Given the description of an element on the screen output the (x, y) to click on. 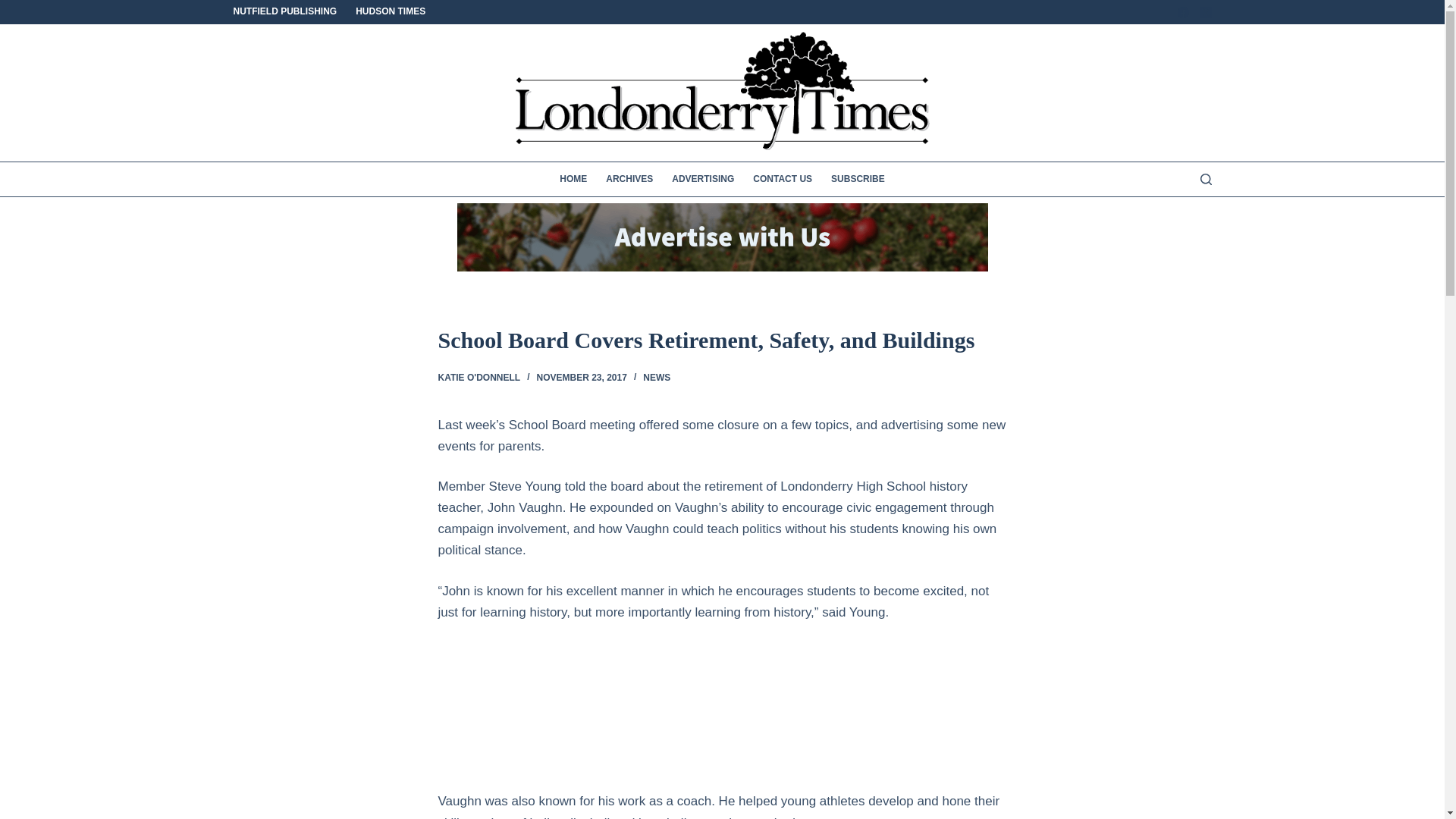
HOME (573, 179)
NEWS (656, 377)
Advertisement (284, 713)
SUBSCRIBE (858, 179)
Posts by Katie O'Donnell (479, 377)
ARCHIVES (629, 179)
ADVERTISING (703, 179)
HUDSON TIMES (390, 12)
School Board Covers Retirement, Safety, and Buildings (722, 339)
KATIE O'DONNELL (479, 377)
